Given the description of an element on the screen output the (x, y) to click on. 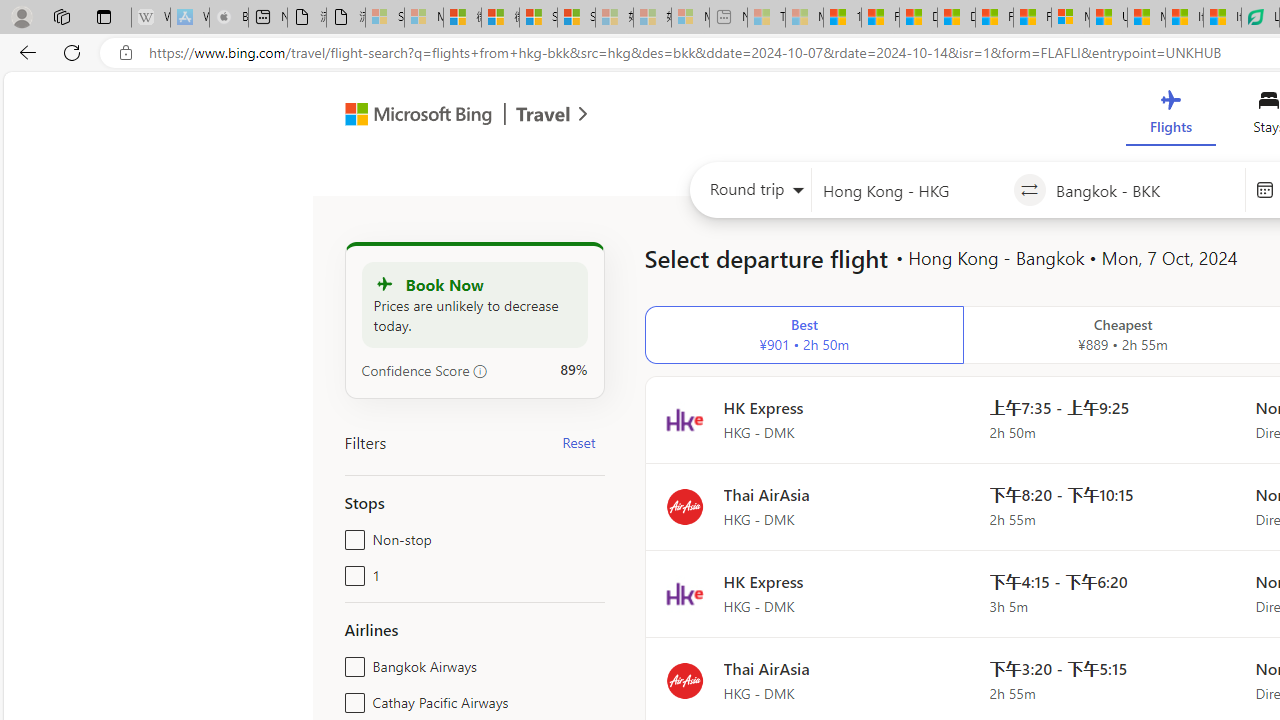
Marine life - MSN - Sleeping (804, 17)
Bangkok Airways (351, 662)
